Given the description of an element on the screen output the (x, y) to click on. 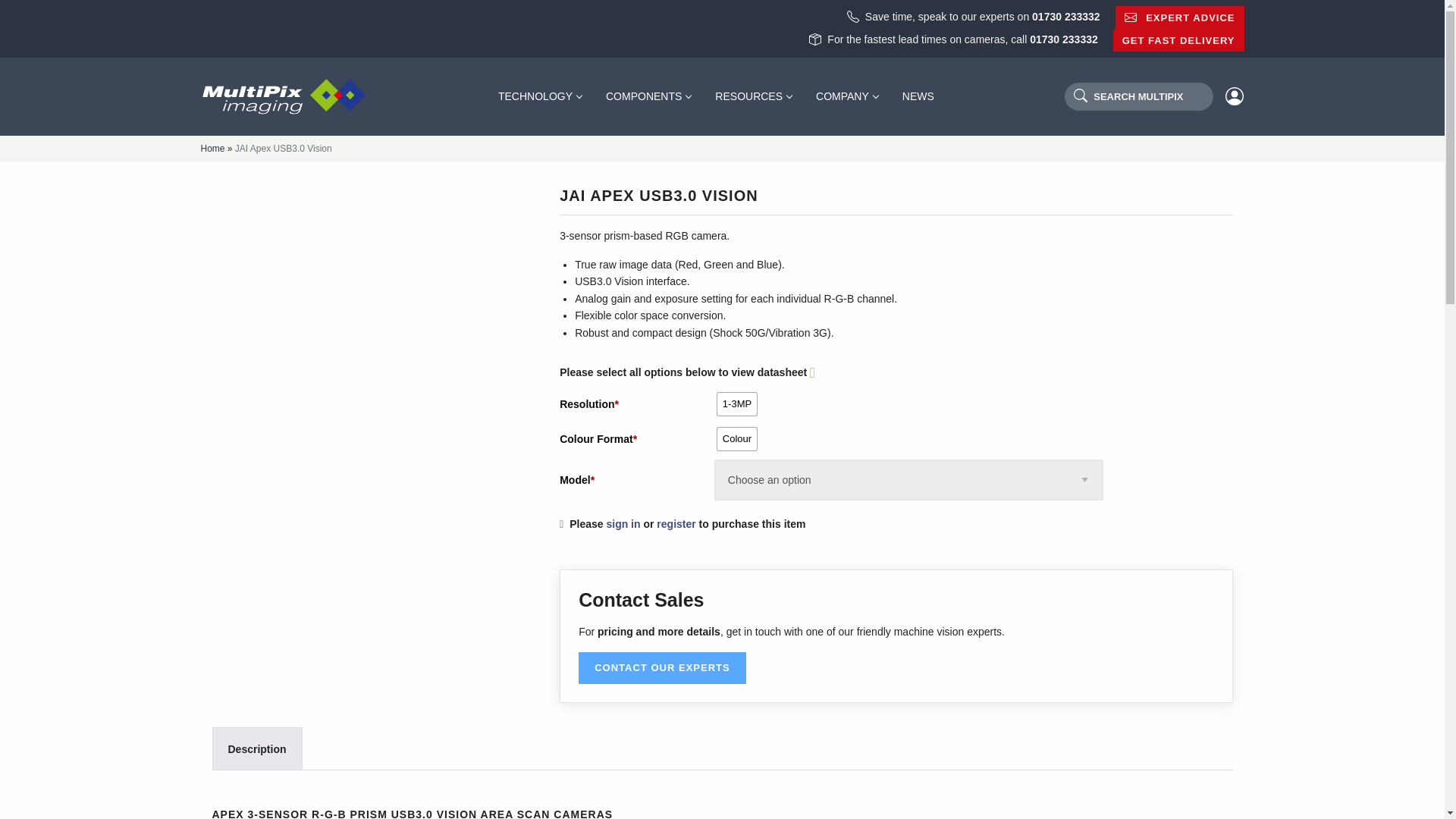
1-3MP (737, 404)
01730 233332 (1063, 39)
COMPONENTS (648, 96)
TECHNOLOGY (540, 96)
01730 233332 (1066, 16)
Colour (737, 438)
RESOURCES (753, 96)
GET FAST DELIVERY (1178, 40)
COMPANY (846, 96)
EXPERT ADVICE (1179, 17)
